Given the description of an element on the screen output the (x, y) to click on. 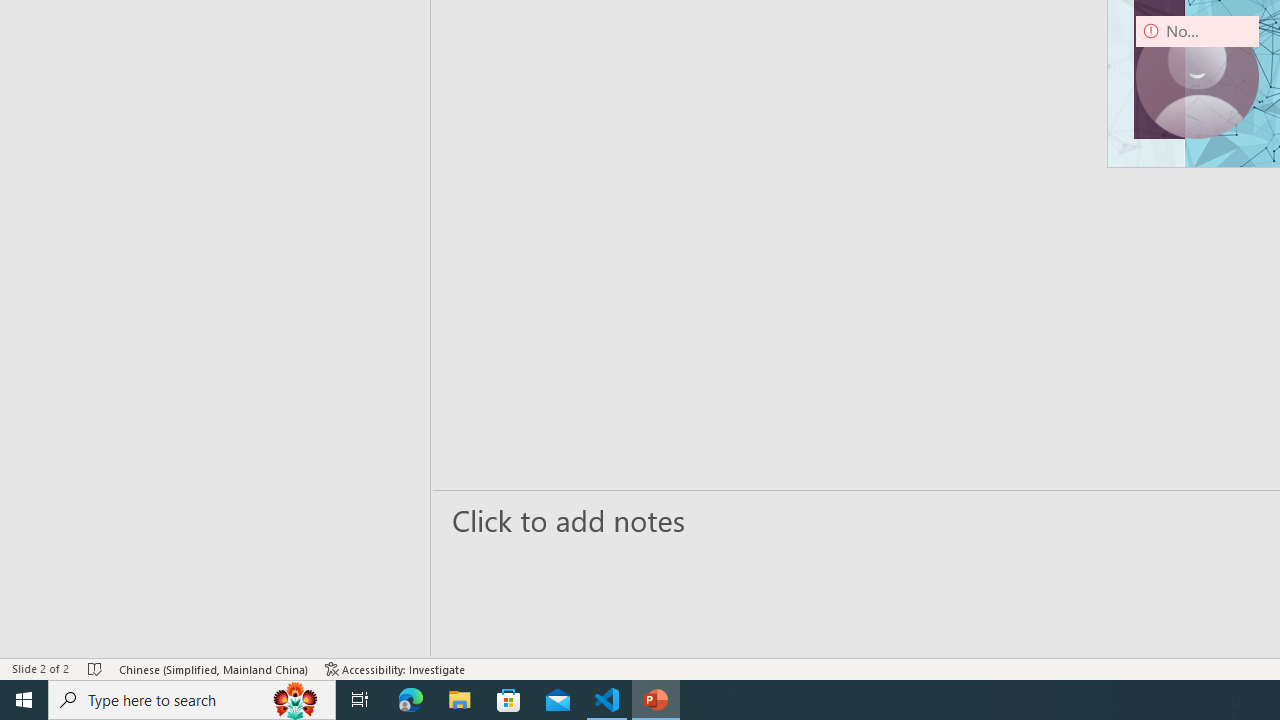
Camera 9, No camera detected. (1197, 77)
